Given the description of an element on the screen output the (x, y) to click on. 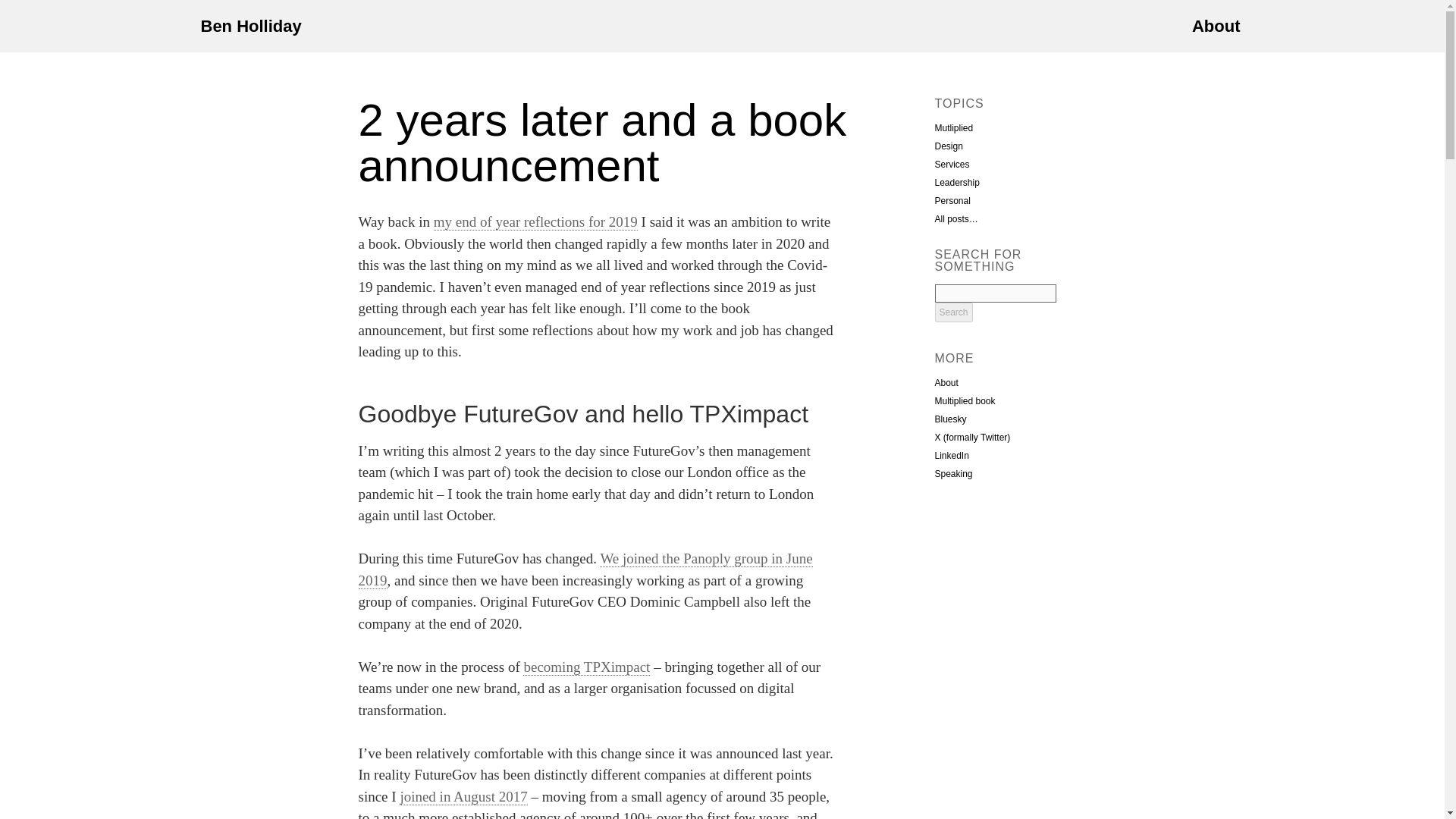
Design (948, 145)
LinkedIn (951, 455)
About (946, 382)
joined in August 2017 (462, 796)
Services (951, 163)
Multiplied book (964, 400)
About (946, 382)
Leadership (956, 182)
my end of year reflections for 2019 (535, 221)
becoming TPXimpact (585, 667)
